Given the description of an element on the screen output the (x, y) to click on. 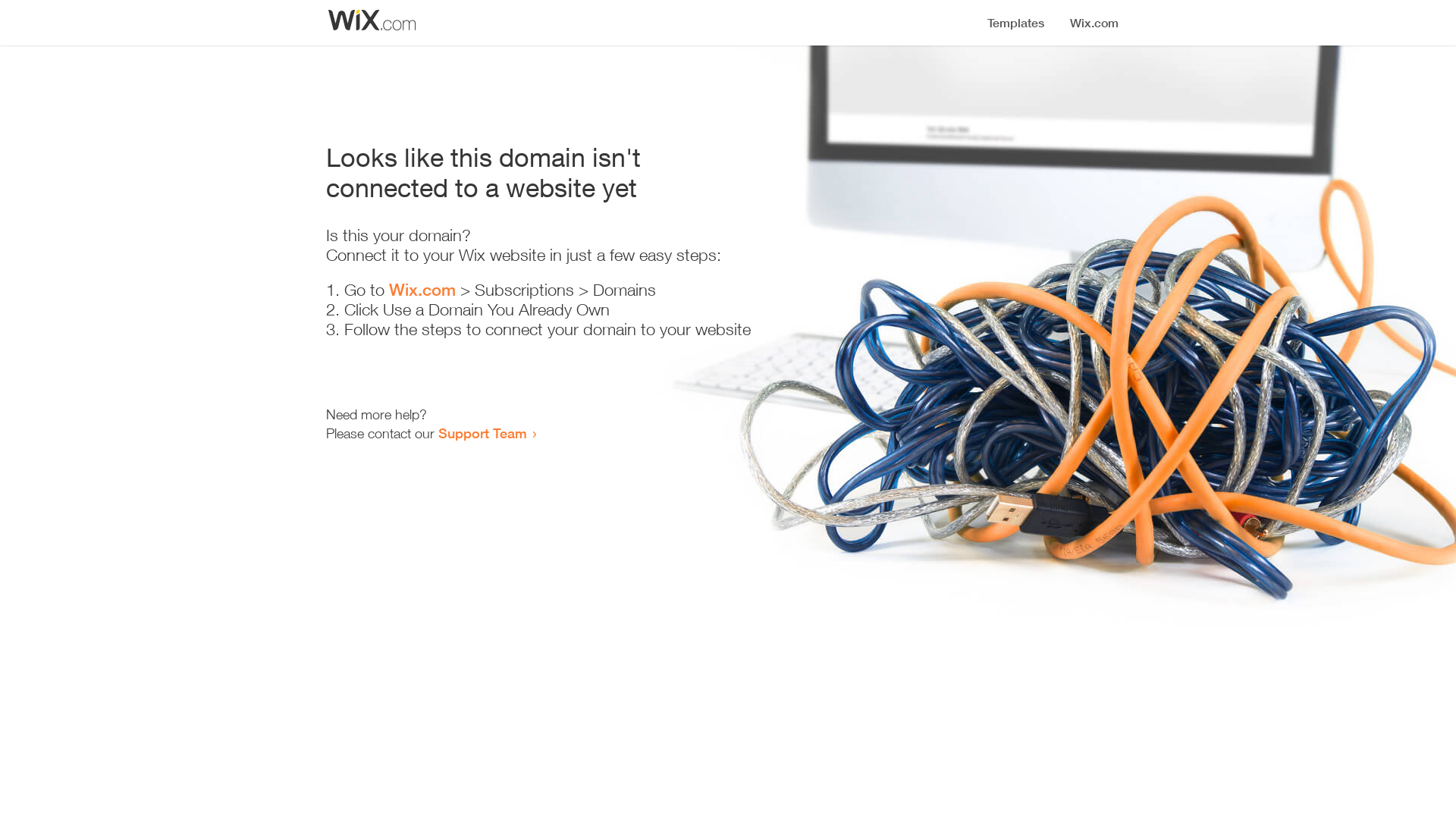
Wix.com Element type: text (422, 289)
Support Team Element type: text (482, 432)
